Given the description of an element on the screen output the (x, y) to click on. 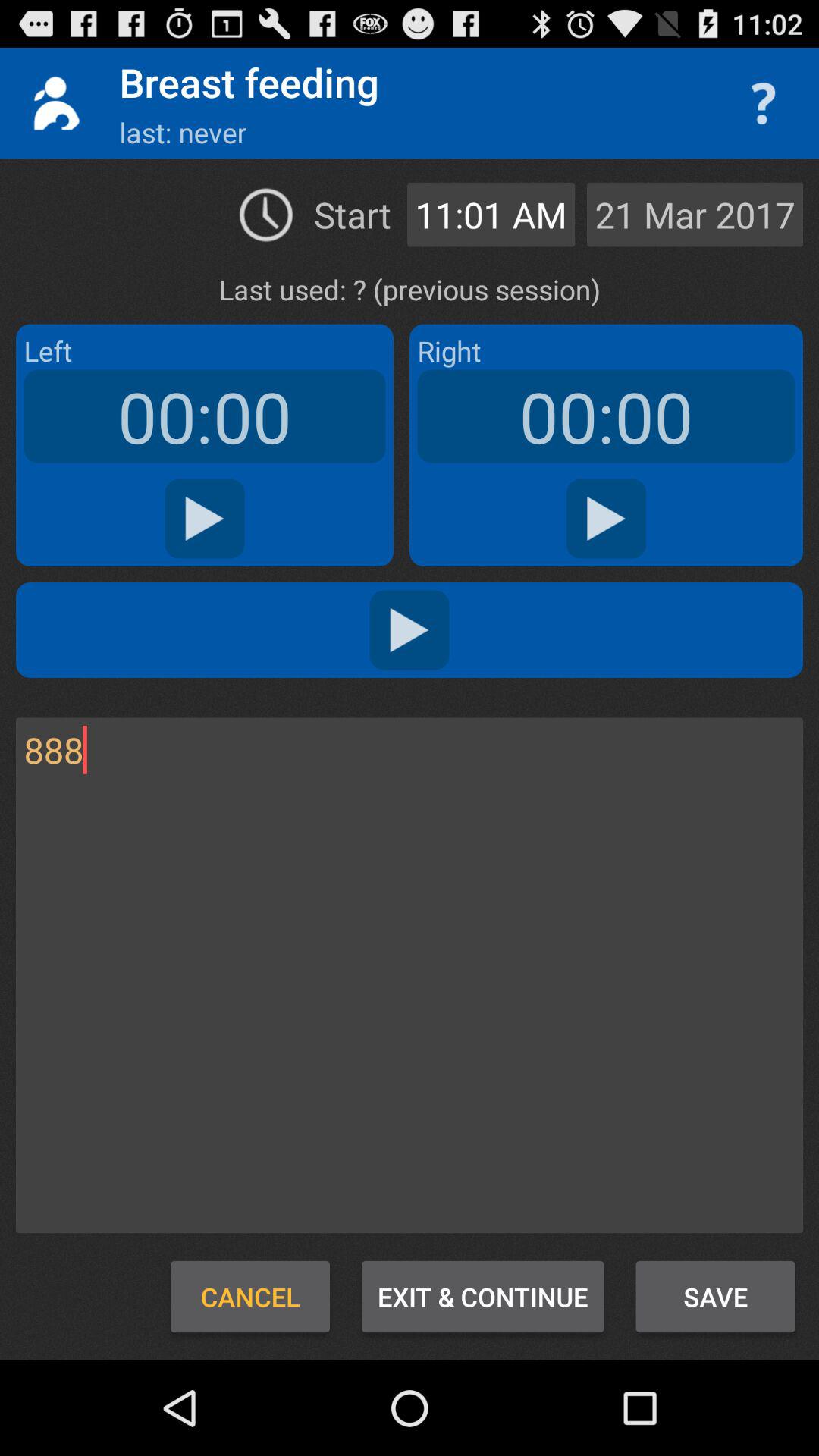
start timer (606, 518)
